Given the description of an element on the screen output the (x, y) to click on. 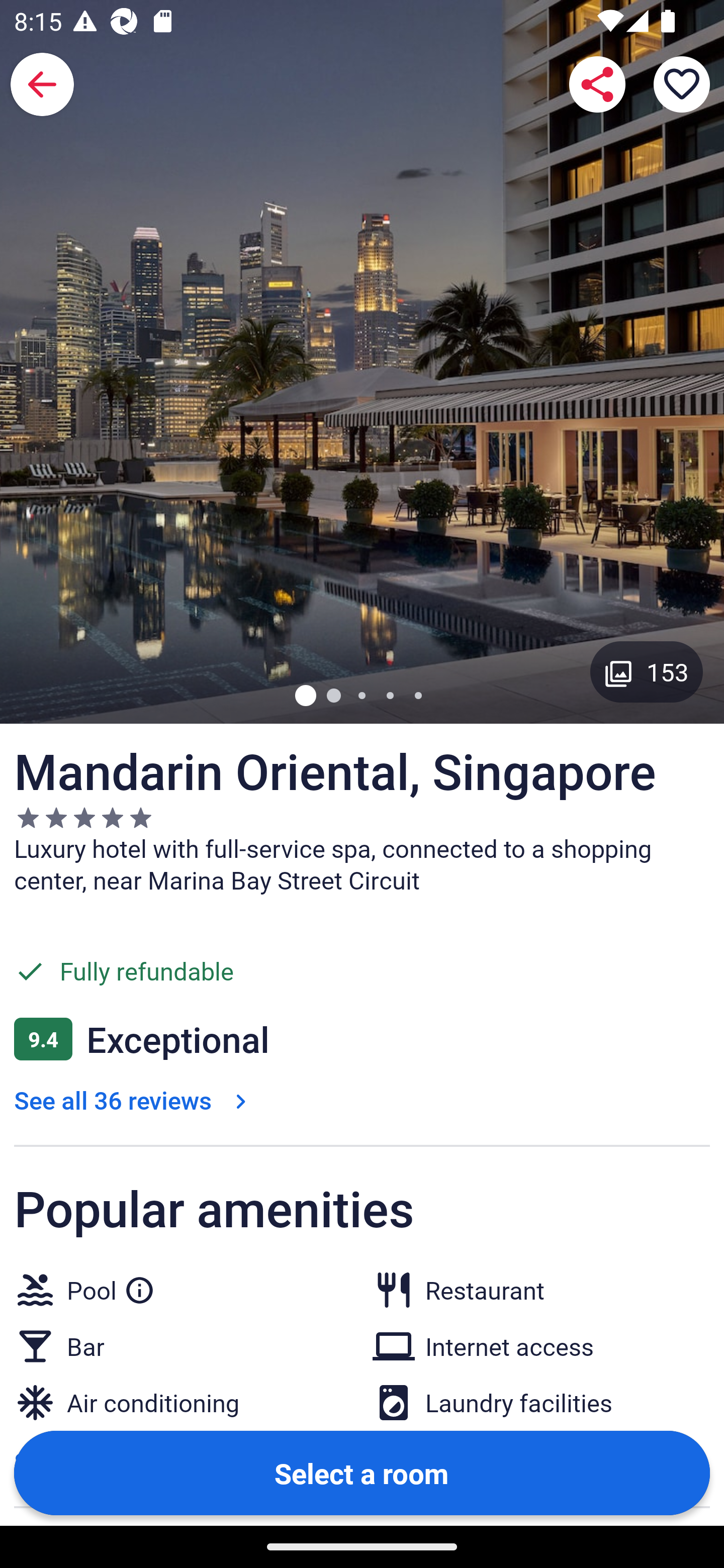
Back (42, 84)
Save property to a trip (681, 84)
Share Mandarin Oriental, Singapore (597, 84)
Gallery button with 153 images (646, 671)
See all 36 reviews See all 36 reviews Link (133, 1100)
Pool (110, 1286)
Select a room Button Select a room (361, 1472)
